Given the description of an element on the screen output the (x, y) to click on. 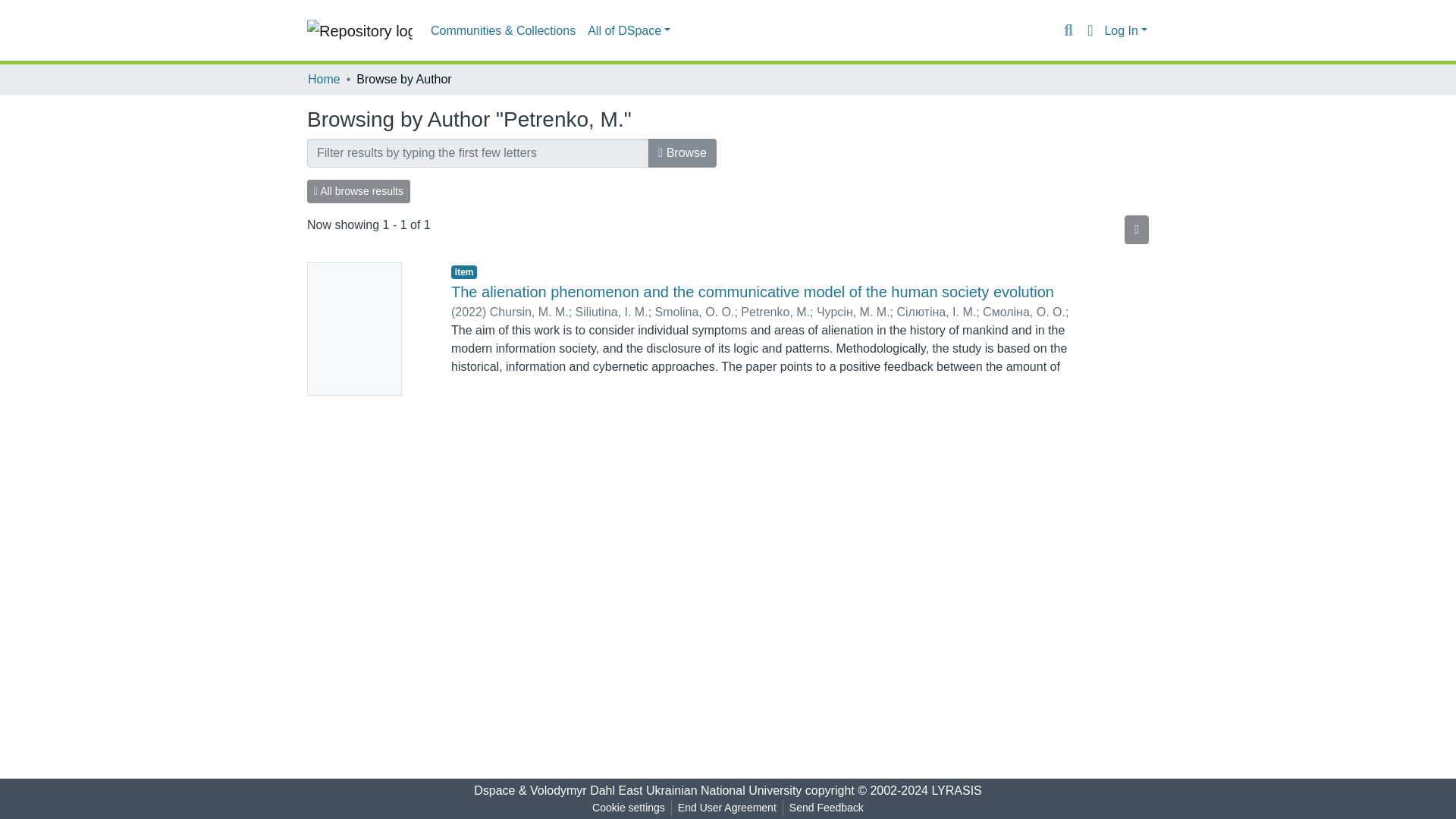
Log In (1125, 30)
All of DSpace (628, 30)
Home (323, 79)
Language switch (1089, 30)
Browse (681, 152)
No Thumbnail Available (367, 329)
Search (1067, 30)
LYRASIS (956, 789)
All browse results (358, 191)
